Given the description of an element on the screen output the (x, y) to click on. 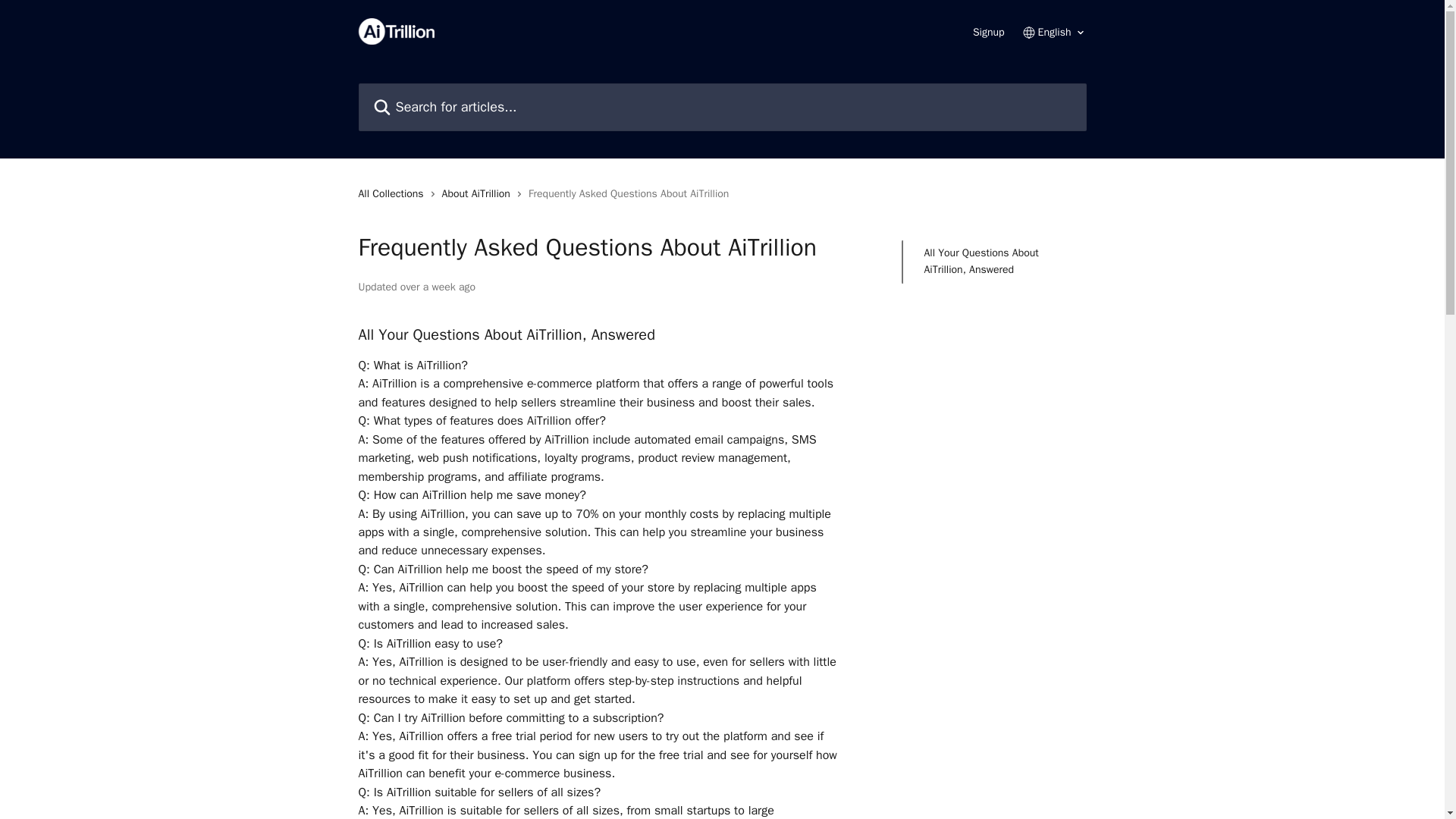
All Your Questions About AiTrillion, Answered (993, 261)
Signup (988, 32)
About AiTrillion (479, 193)
All Collections (393, 193)
